Given the description of an element on the screen output the (x, y) to click on. 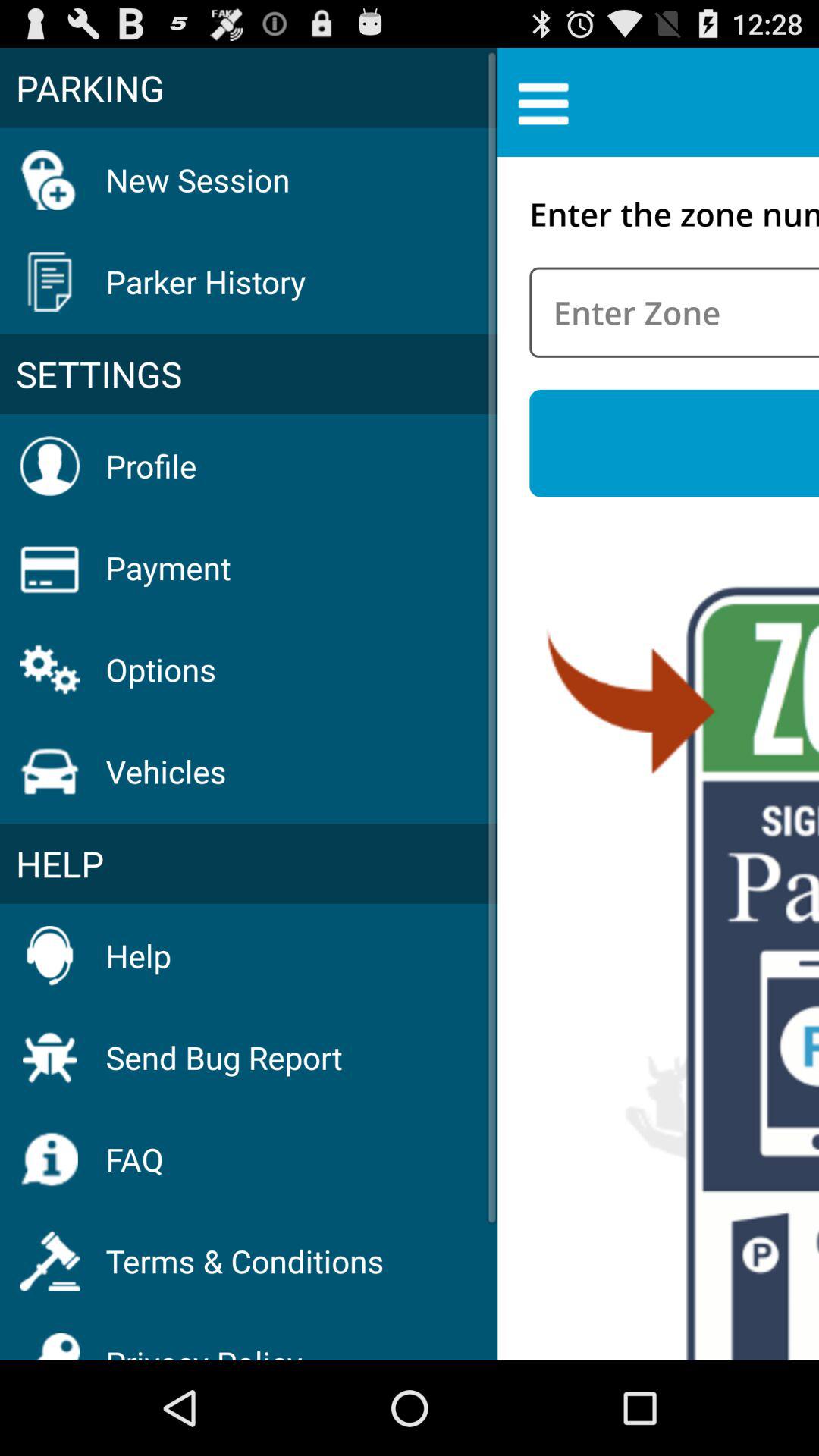
select the icon below the options (165, 770)
